Given the description of an element on the screen output the (x, y) to click on. 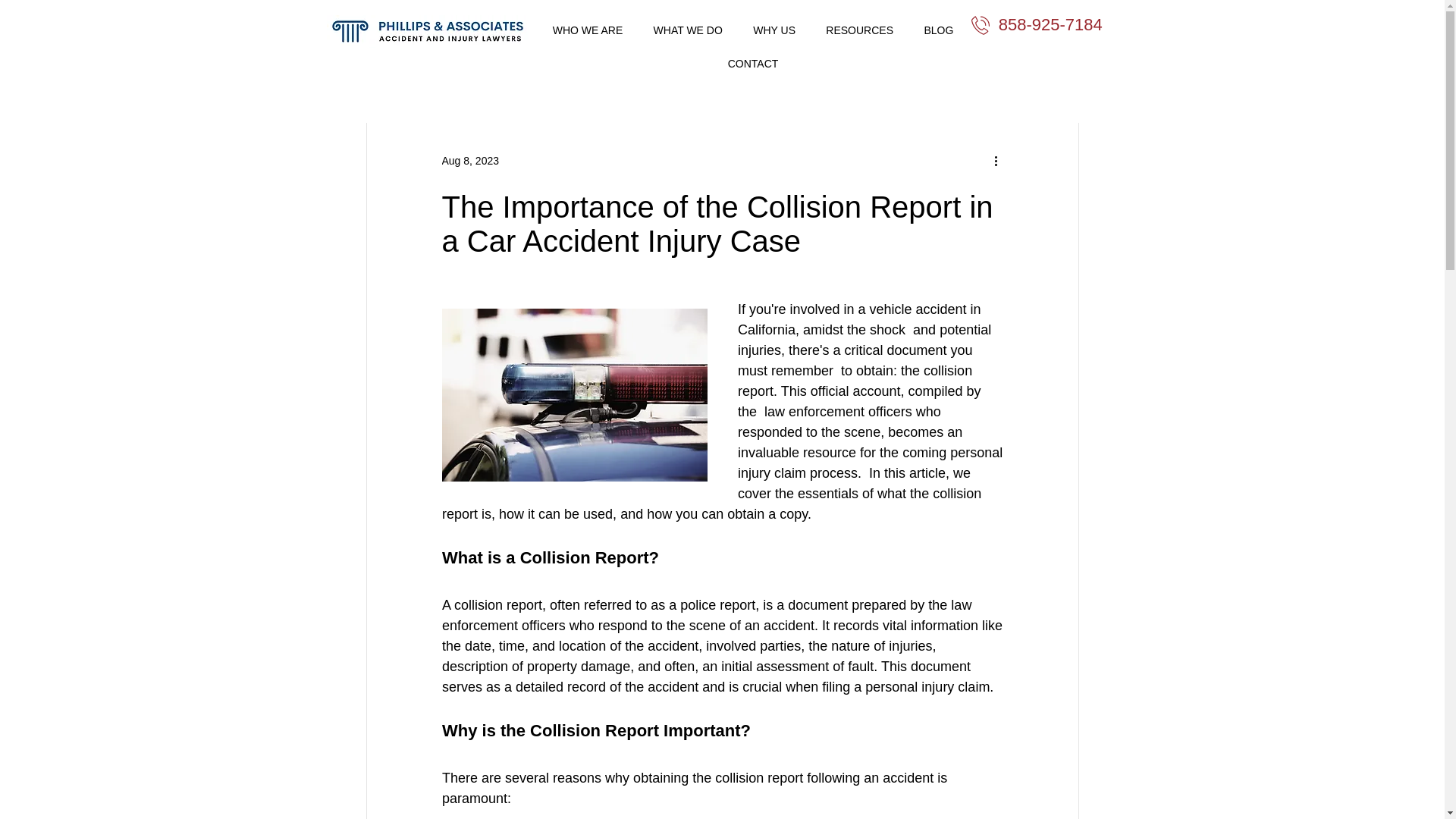
WHY US (774, 30)
CONTACT (752, 62)
BLOG (938, 30)
WHAT WE DO (687, 30)
Aug 8, 2023 (470, 160)
Color logo - no backgroundHIGHRES.png (426, 31)
WHO WE ARE (587, 30)
RESOURCES (859, 30)
